Given the description of an element on the screen output the (x, y) to click on. 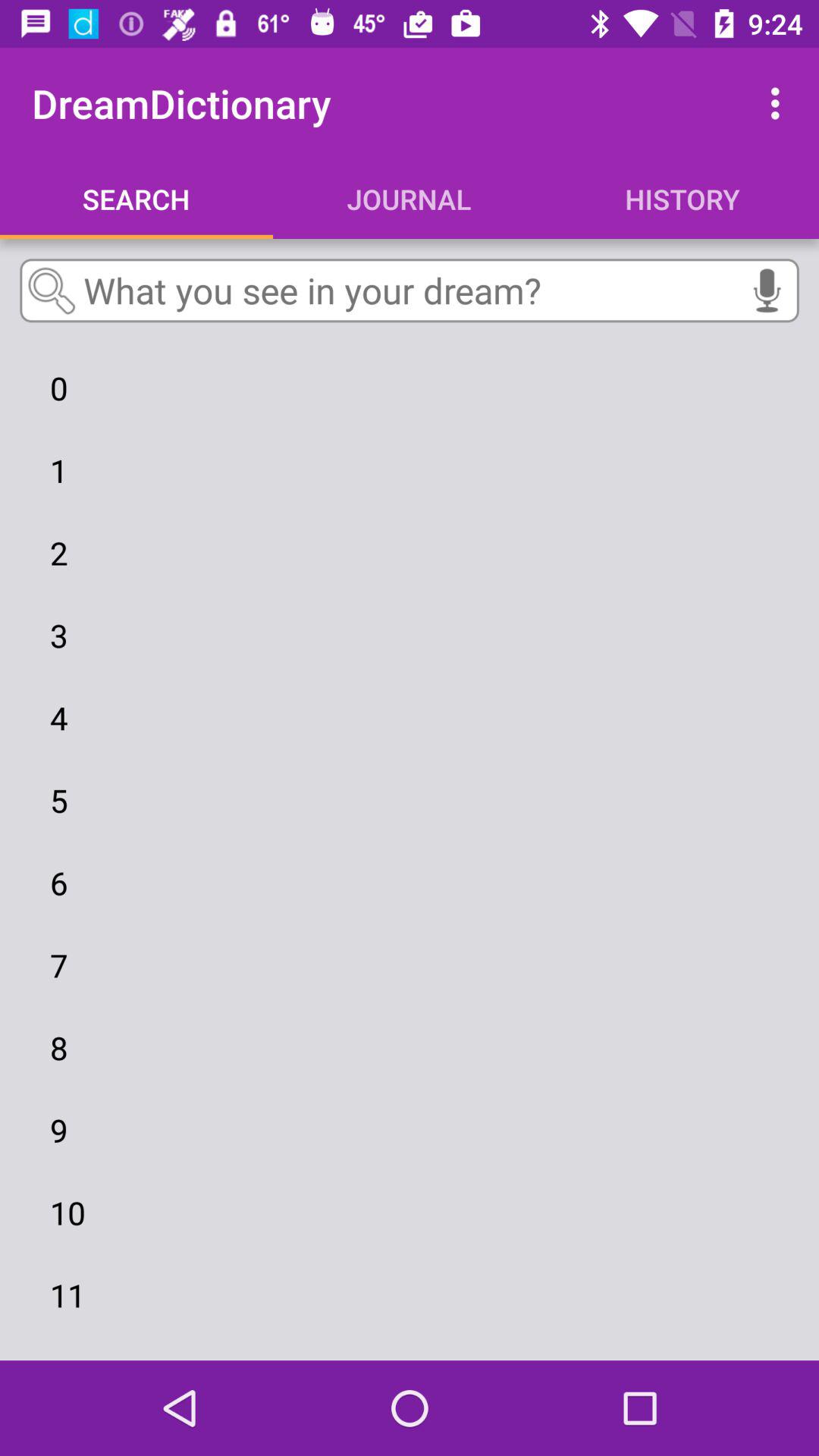
press the app next to dreamdictionary item (779, 103)
